Given the description of an element on the screen output the (x, y) to click on. 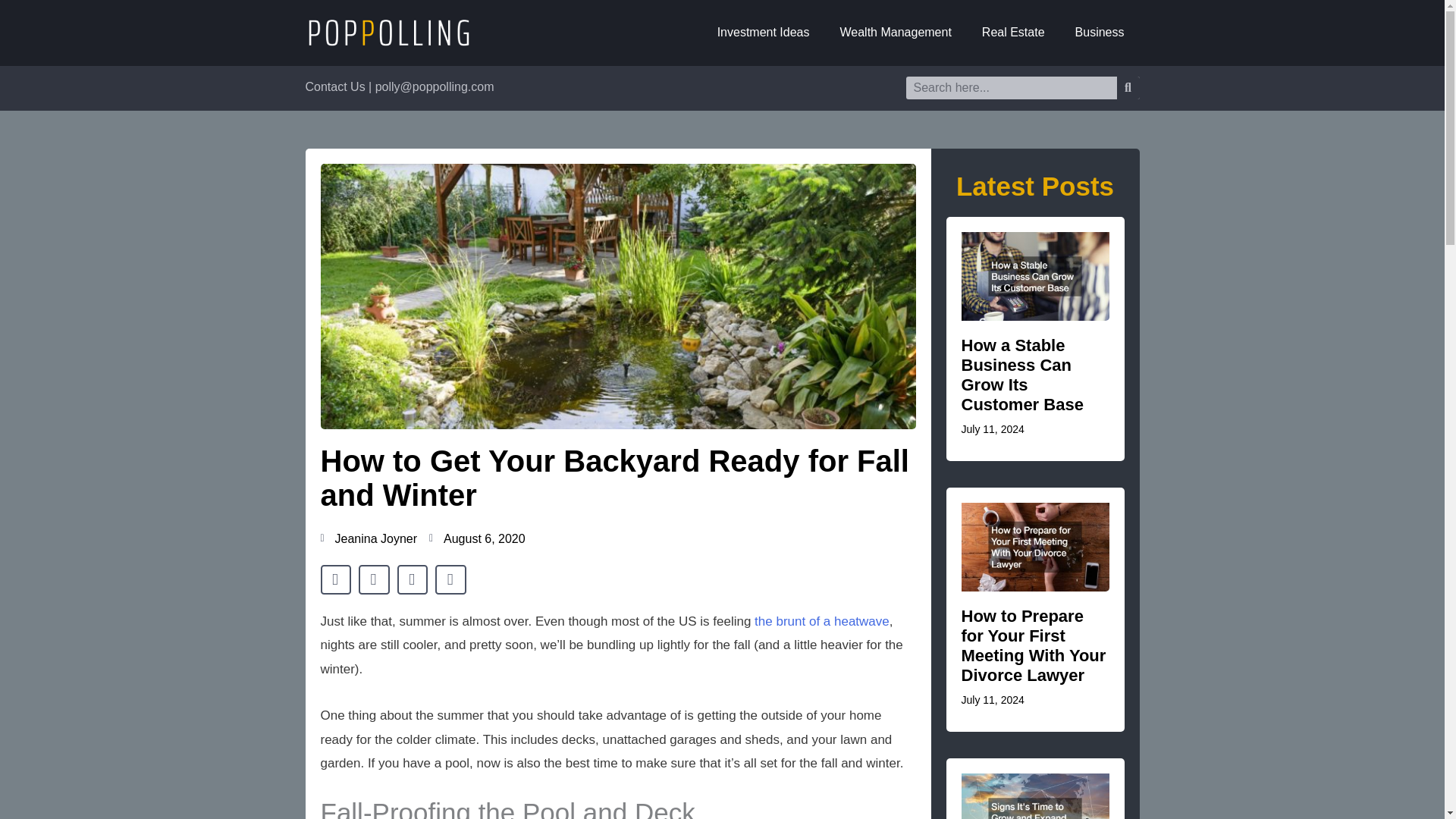
Investment Ideas (763, 32)
Wealth Management (895, 32)
the brunt of a heatwave (821, 621)
August 6, 2020 (477, 538)
Jeanina Joyner (368, 538)
Business (1099, 32)
Real Estate (1012, 32)
How a Stable Business Can Grow Its Customer Base (1021, 374)
Search (1127, 87)
